Given the description of an element on the screen output the (x, y) to click on. 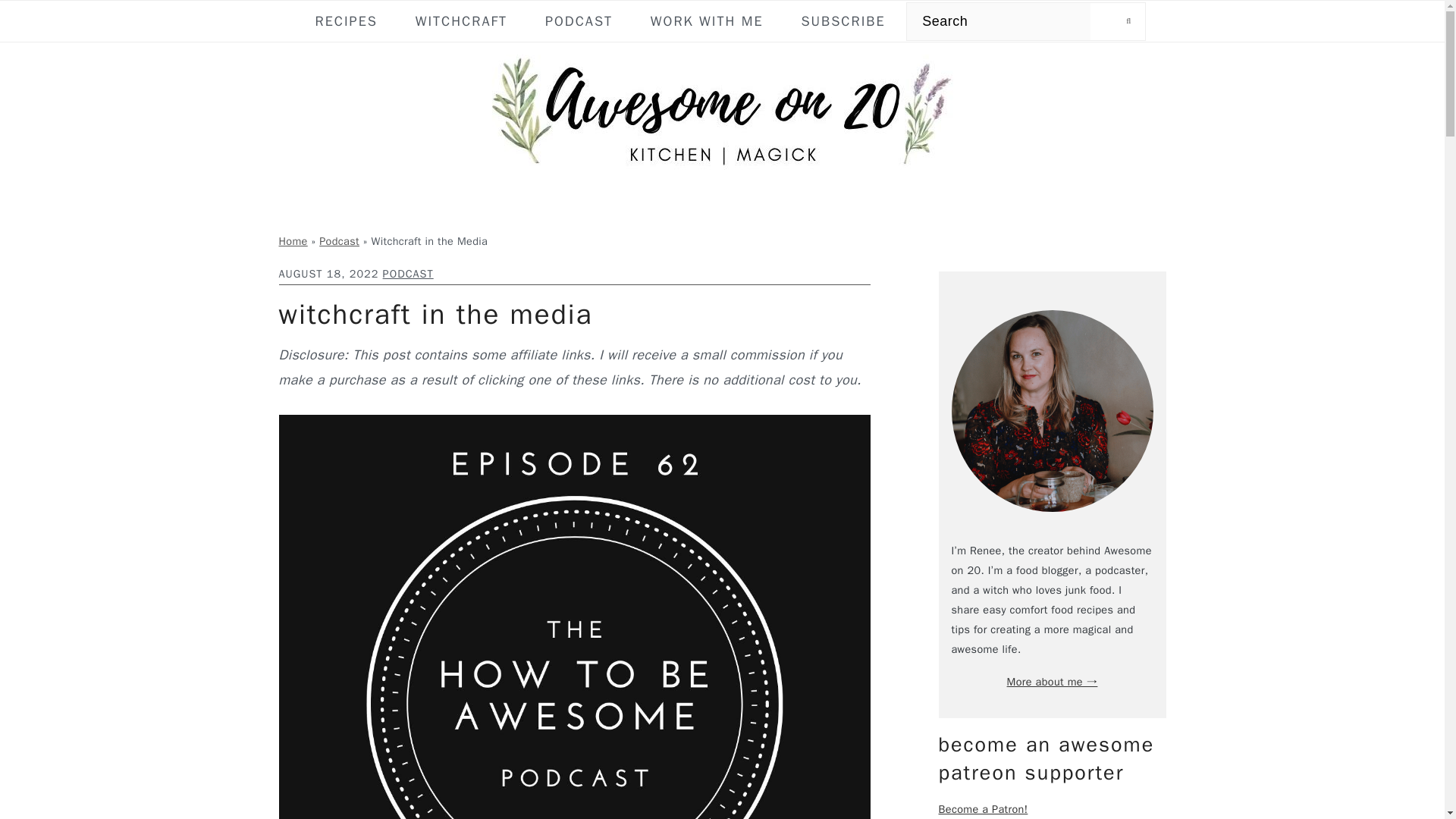
Home (293, 241)
WORK WITH ME (706, 21)
PODCAST (579, 21)
Awesome on 20 (721, 171)
Awesome on 20 (721, 113)
RECIPES (346, 21)
SUBSCRIBE (842, 21)
WITCHCRAFT (461, 21)
